Given the description of an element on the screen output the (x, y) to click on. 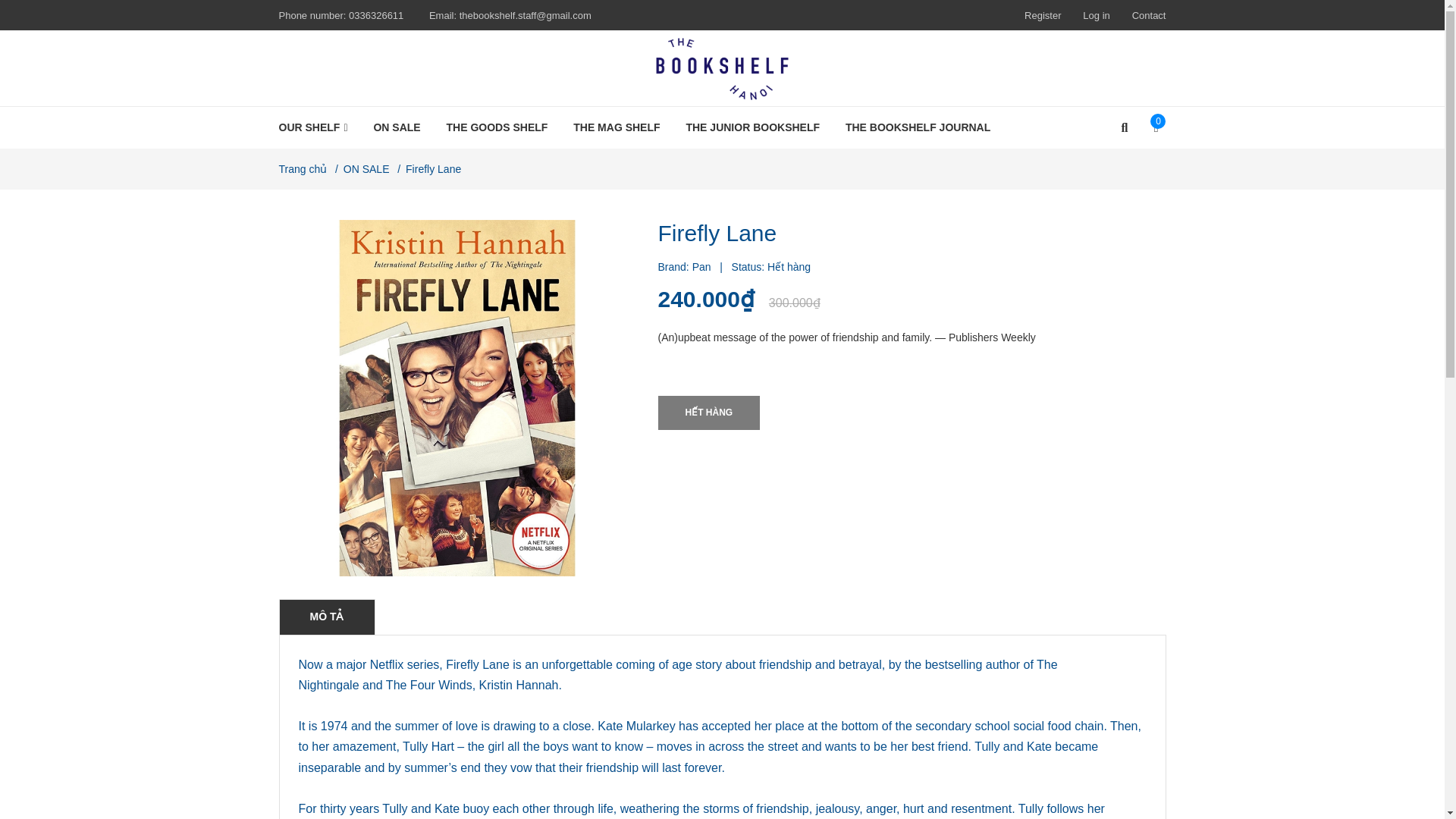
Contact (1149, 15)
0336326611 (376, 15)
THE MAG SHELF (616, 127)
ON SALE (395, 127)
THE JUNIOR BOOKSHELF (752, 127)
Register (1043, 15)
OUR SHELF (319, 127)
Log in (1096, 15)
THE GOODS SHELF (497, 127)
0 (1151, 127)
THE BOOKSHELF JOURNAL (917, 127)
OUR SHELF (319, 127)
